Given the description of an element on the screen output the (x, y) to click on. 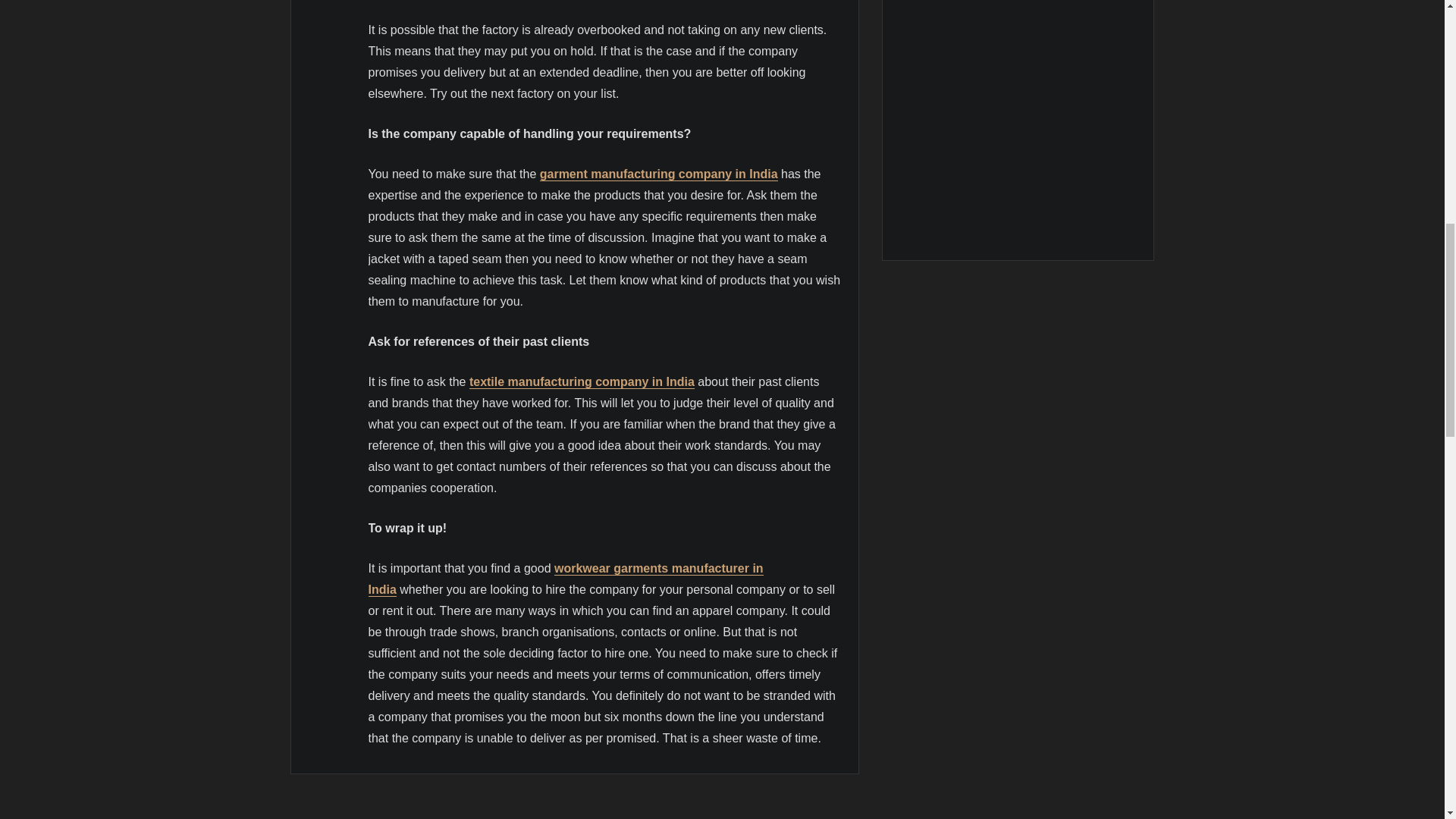
garment manufacturing company in India (658, 173)
workwear garments manufacturer in India (565, 578)
textile manufacturing company in India (581, 381)
